Given the description of an element on the screen output the (x, y) to click on. 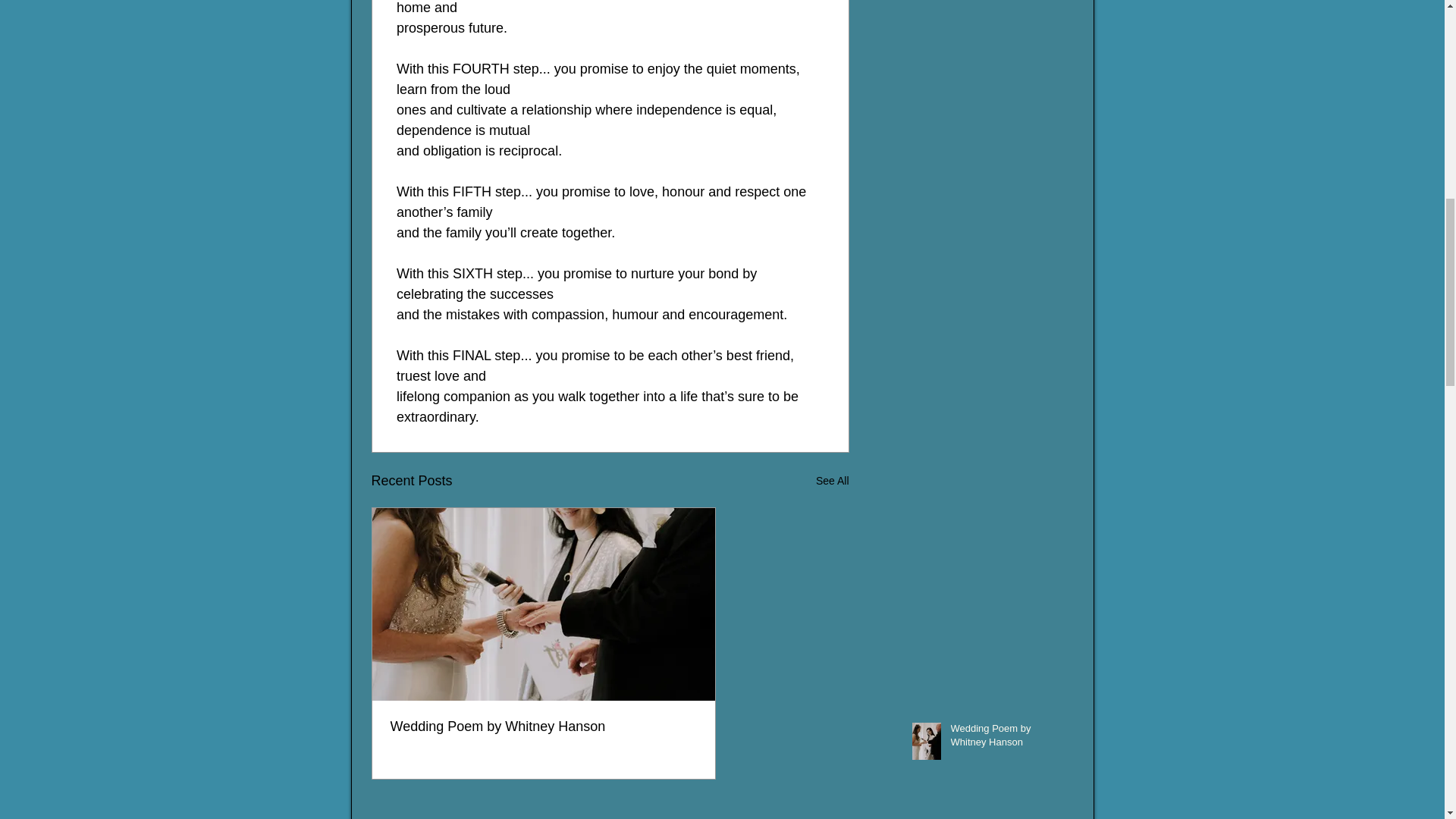
Wedding Poem by Whitney Hanson (542, 726)
Wedding Poem by Whitney Hanson (1004, 738)
See All (831, 481)
